Given the description of an element on the screen output the (x, y) to click on. 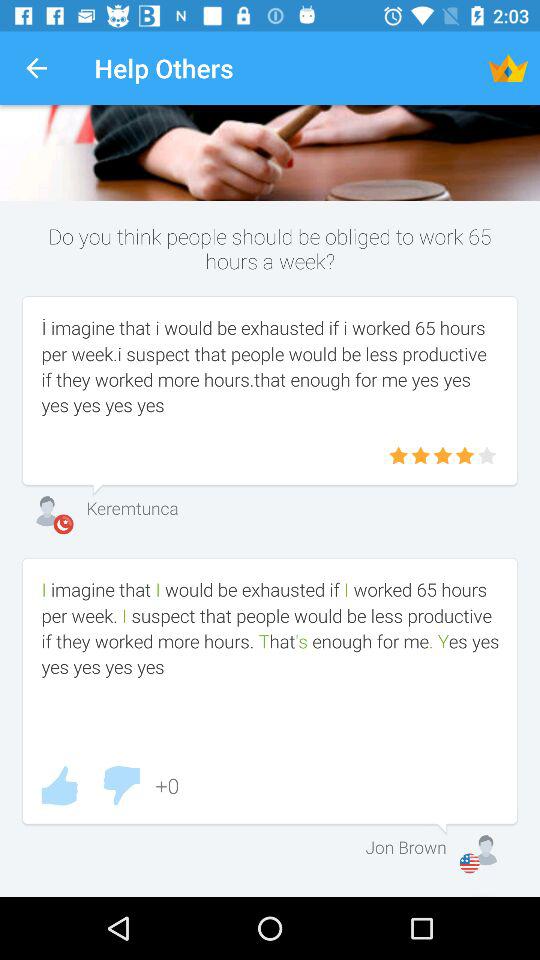
tap the item to the right of the help others icon (508, 67)
